Given the description of an element on the screen output the (x, y) to click on. 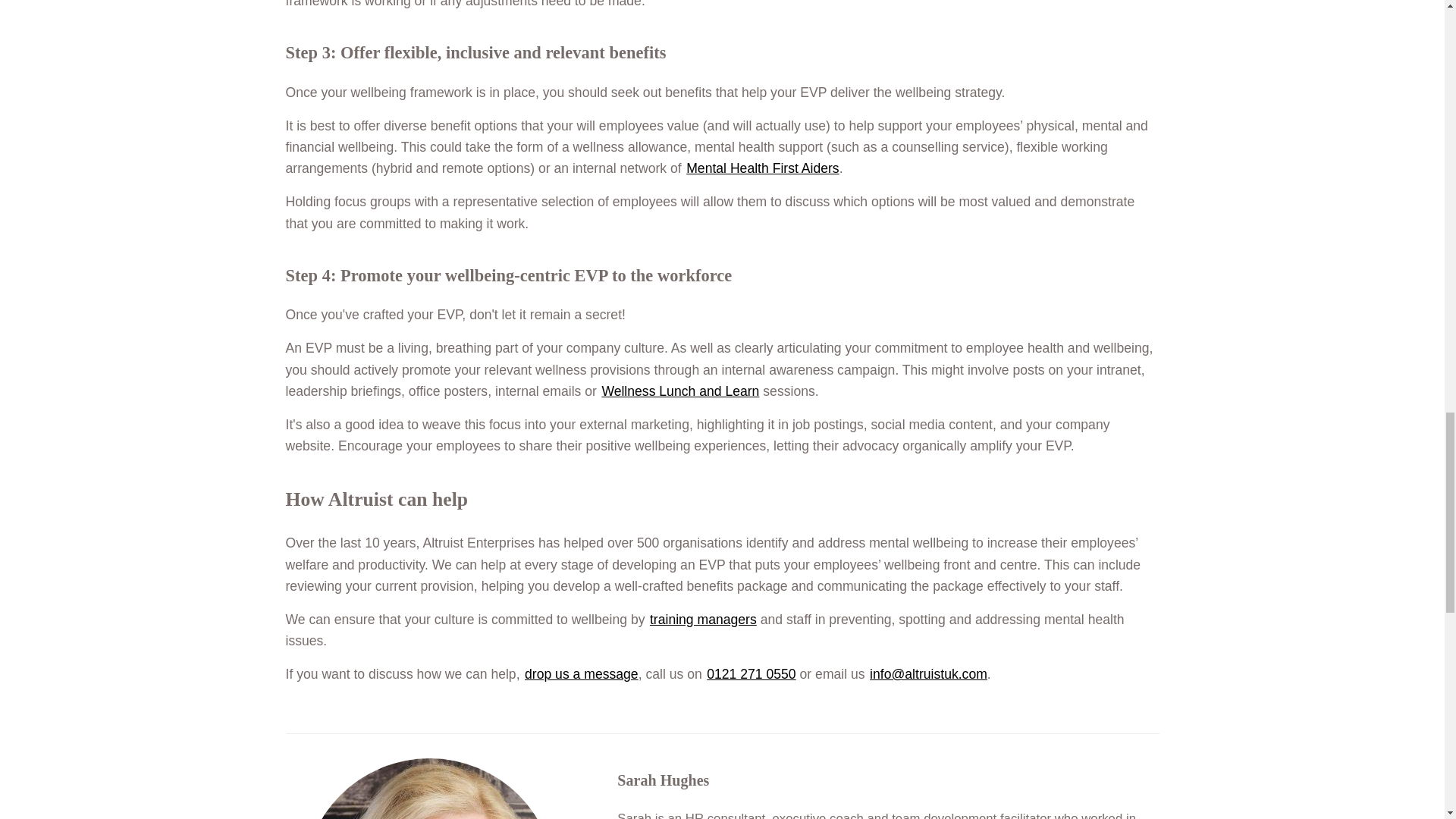
0121 271 0550 (750, 673)
training managers (703, 619)
Wellness Lunch and Learn (679, 391)
Mental Health First Aiders (761, 168)
drop us a message (581, 673)
